Given the description of an element on the screen output the (x, y) to click on. 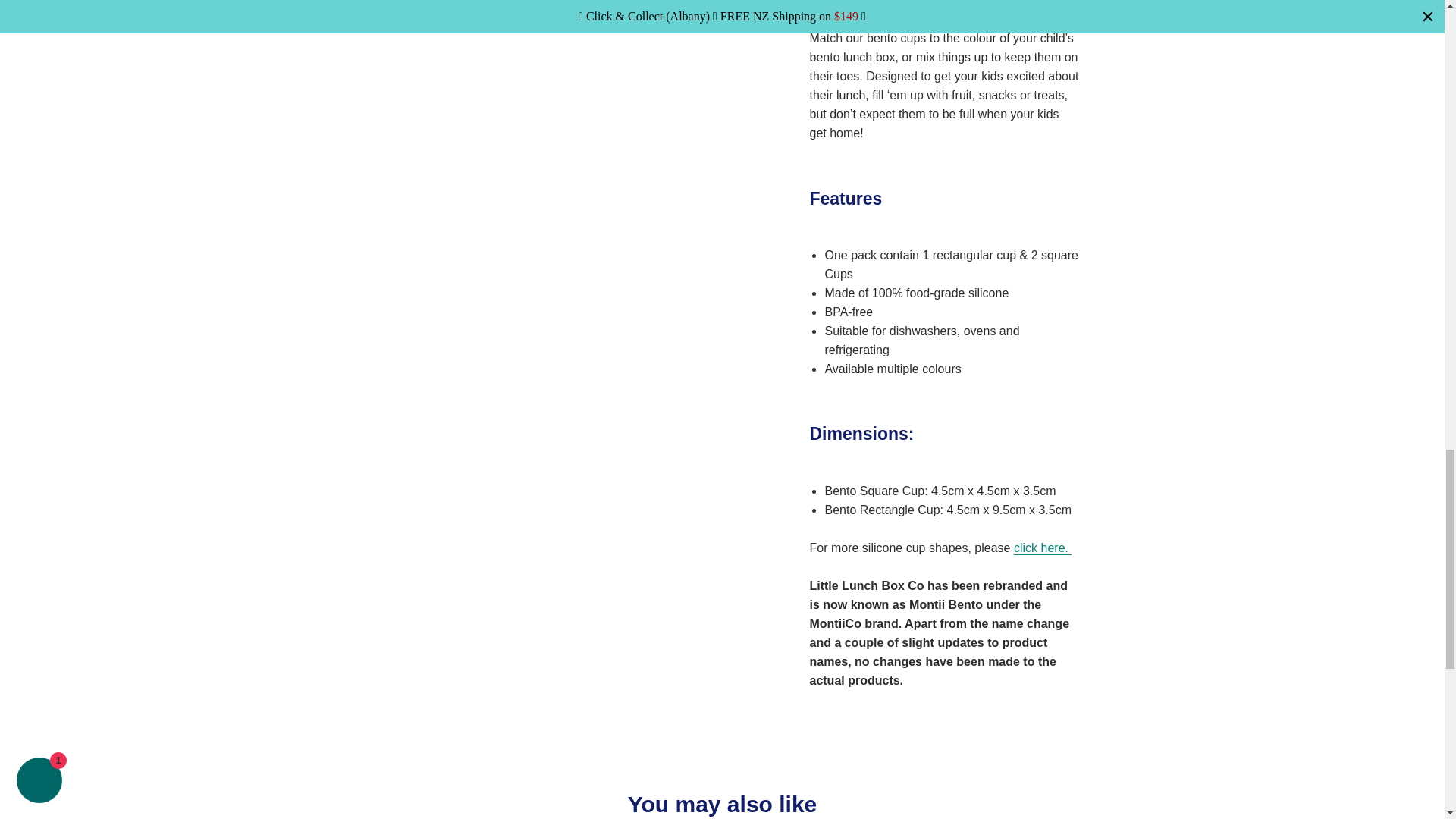
Silicone Products - Healthy Snacks NZ (1042, 548)
